Given the description of an element on the screen output the (x, y) to click on. 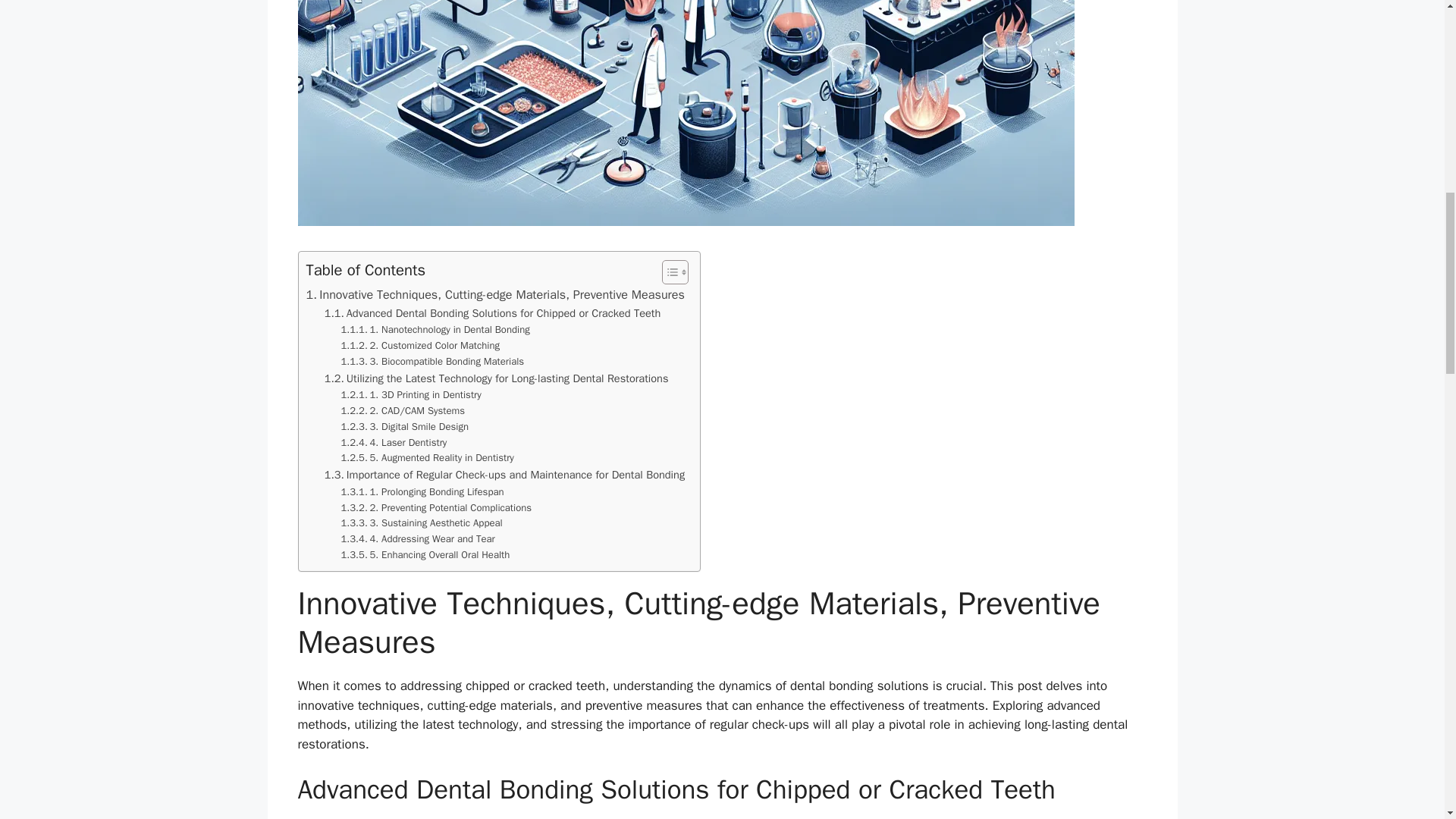
1. 3D Printing in Dentistry (410, 395)
3. Biocompatible Bonding Materials (432, 361)
5. Enhancing Overall Oral Health (425, 555)
1. Prolonging Bonding Lifespan (421, 492)
4. Addressing Wear and Tear (417, 539)
3. Digital Smile Design (404, 426)
4. Laser Dentistry (393, 442)
3. Digital Smile Design (404, 426)
